Given the description of an element on the screen output the (x, y) to click on. 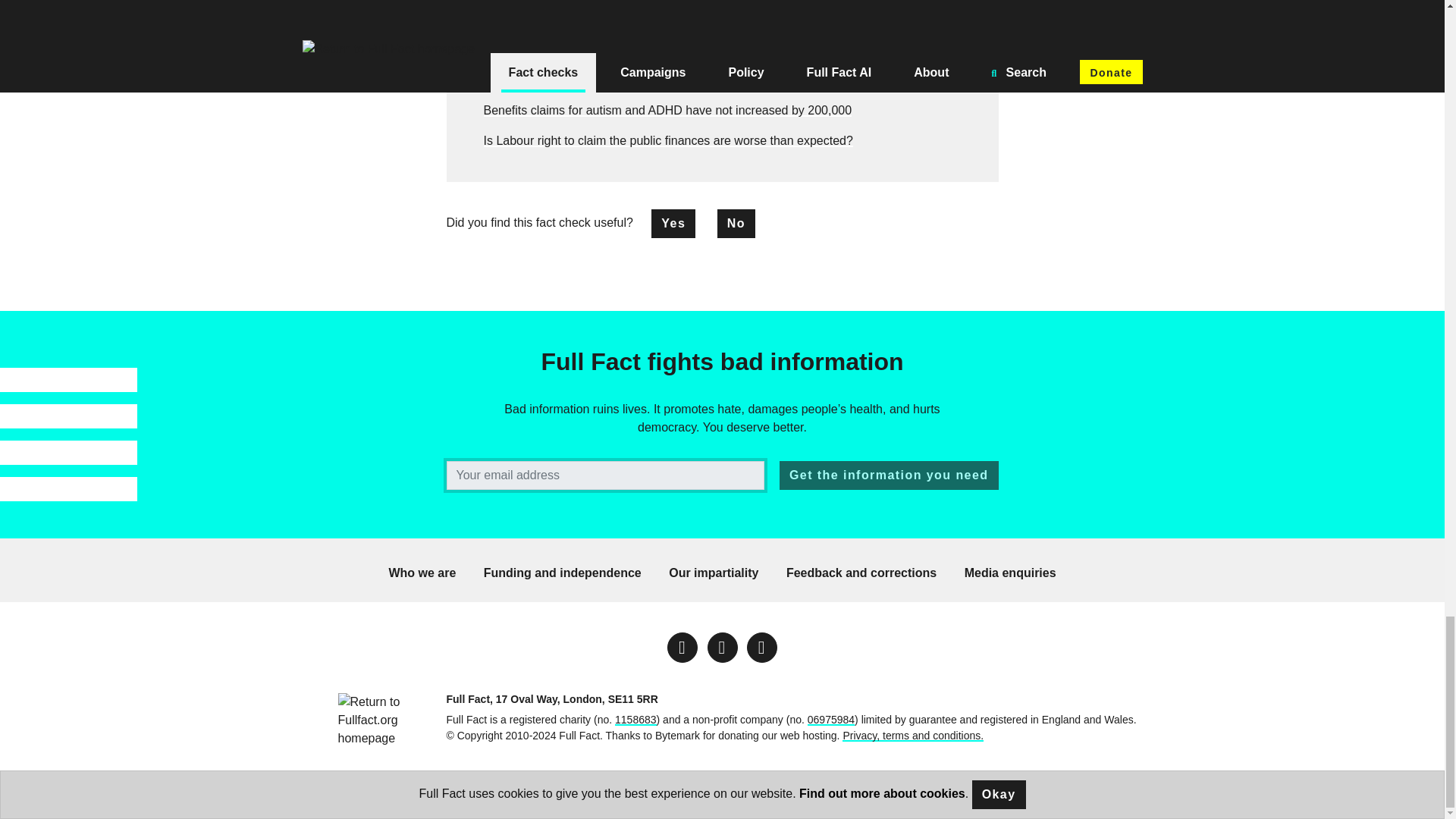
How much do rail sector workers earn? (588, 49)
Link opens in a new window (761, 647)
Link opens in a new window (721, 647)
Link opens in a new window (681, 647)
